Given the description of an element on the screen output the (x, y) to click on. 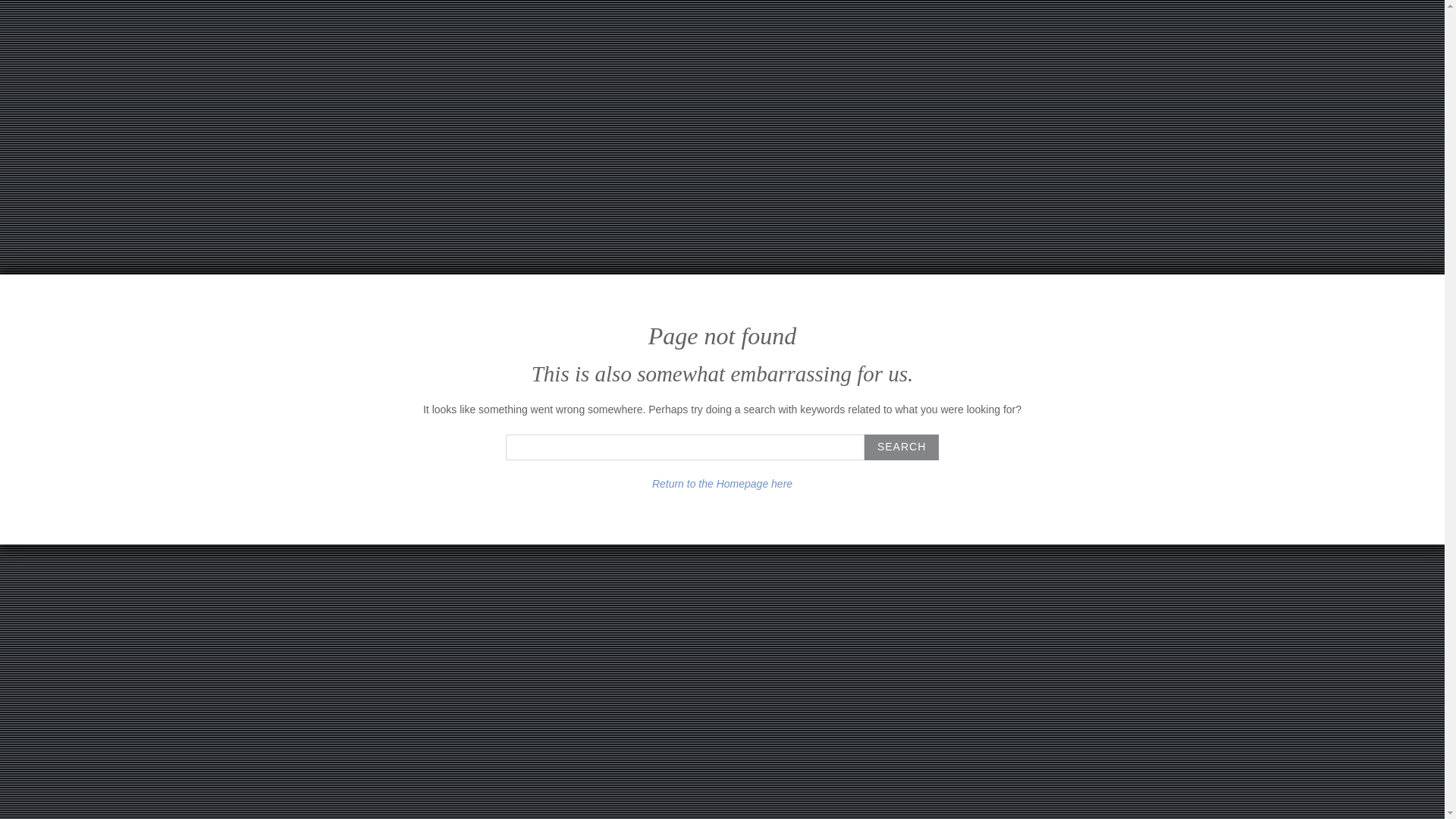
Search (901, 447)
Return to the Homepage here (722, 483)
Search (901, 447)
